Given the description of an element on the screen output the (x, y) to click on. 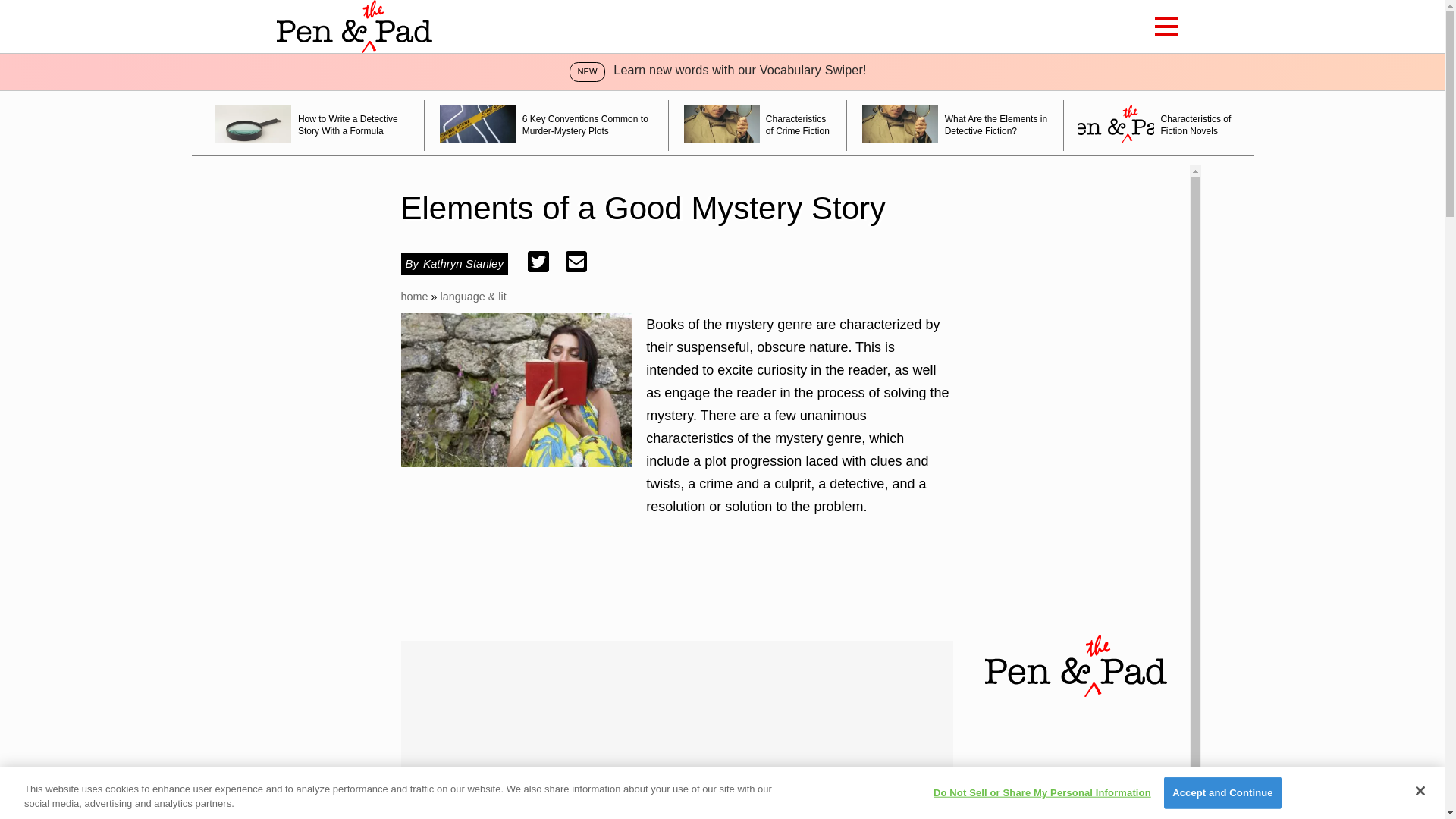
How to Write a Detective Story With a Formula (312, 124)
Advertisement (676, 729)
6 Key Conventions Common to Murder-Mystery Plots (546, 124)
home (414, 296)
Characteristics of Crime Fiction (757, 124)
3rd party ad content (676, 588)
